Given the description of an element on the screen output the (x, y) to click on. 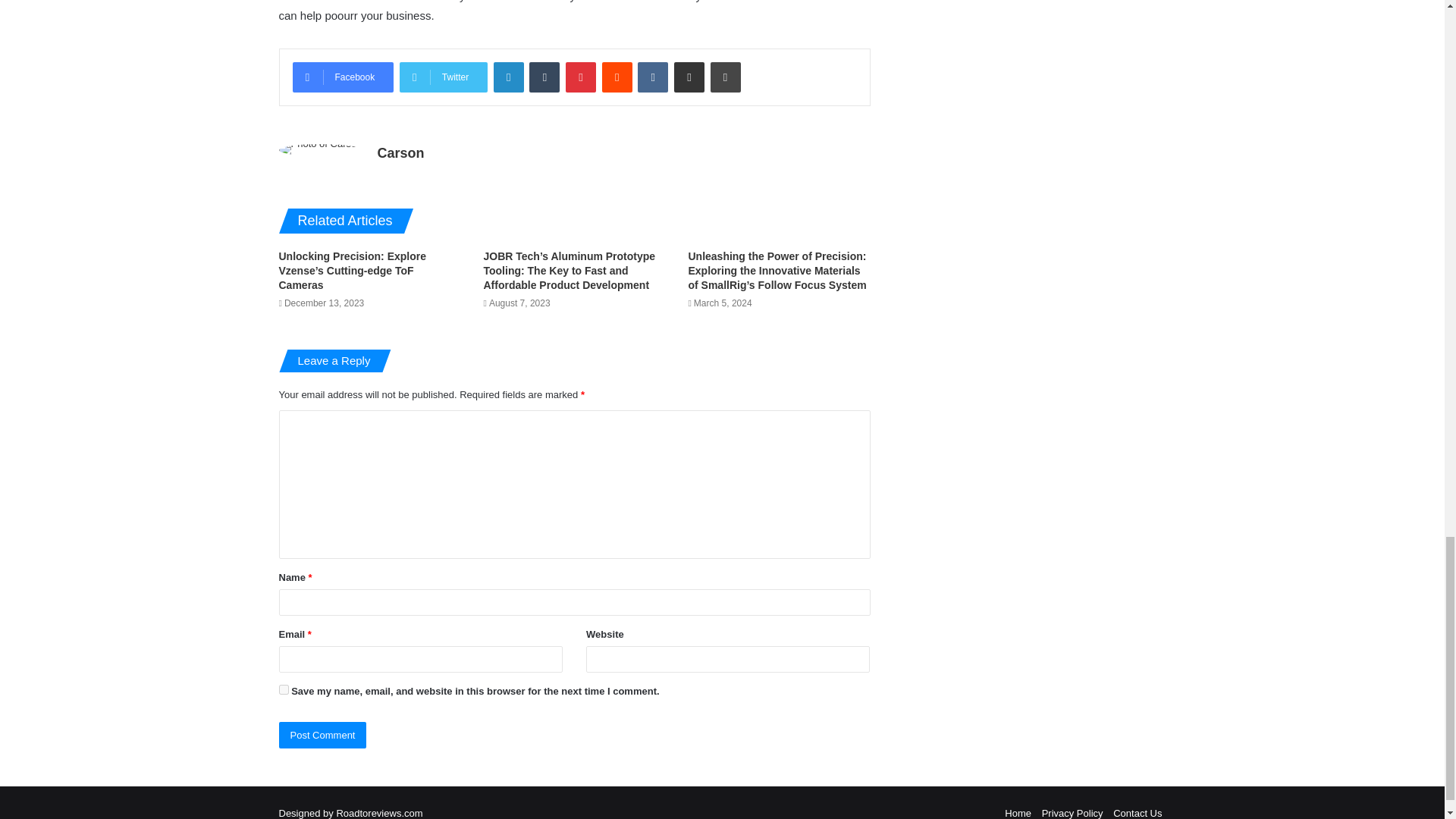
Pinterest (580, 77)
Twitter (442, 77)
Print (725, 77)
VKontakte (652, 77)
Reddit (616, 77)
Post Comment (322, 734)
Post Comment (322, 734)
LinkedIn (508, 77)
VKontakte (652, 77)
Facebook (343, 77)
Reddit (616, 77)
Tumblr (544, 77)
Carson (400, 152)
Share via Email (689, 77)
Pinterest (580, 77)
